Given the description of an element on the screen output the (x, y) to click on. 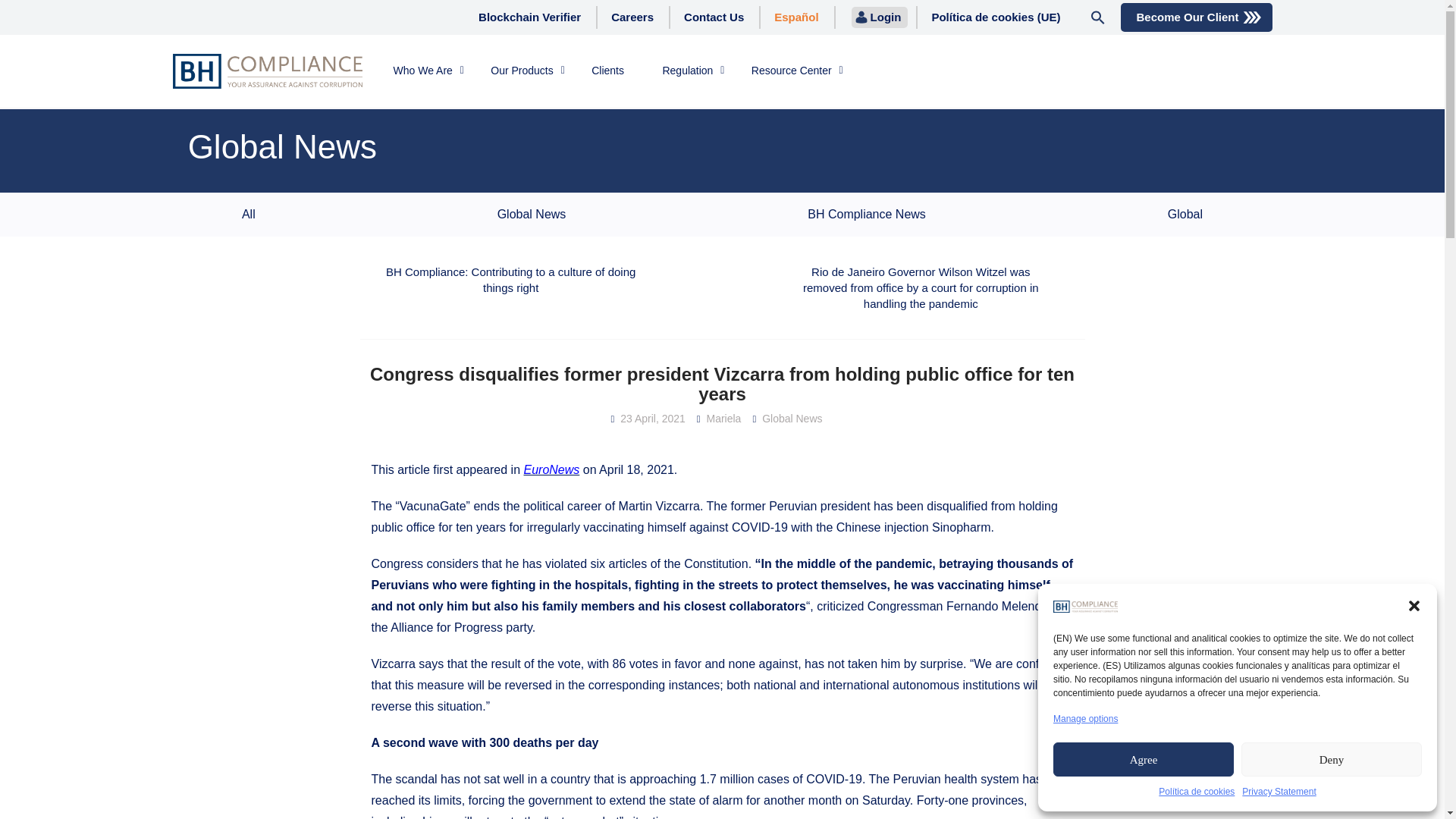
Our Products (521, 70)
Login (885, 16)
Become Our Client (1187, 16)
Careers (632, 16)
Deny (1331, 759)
Blockchain Verifier (529, 16)
Who We Are (422, 70)
Regulation (687, 70)
Privacy Statement (1278, 791)
Clients (607, 70)
Manage options (1085, 719)
Agree (1142, 759)
Contact Us (714, 16)
